Given the description of an element on the screen output the (x, y) to click on. 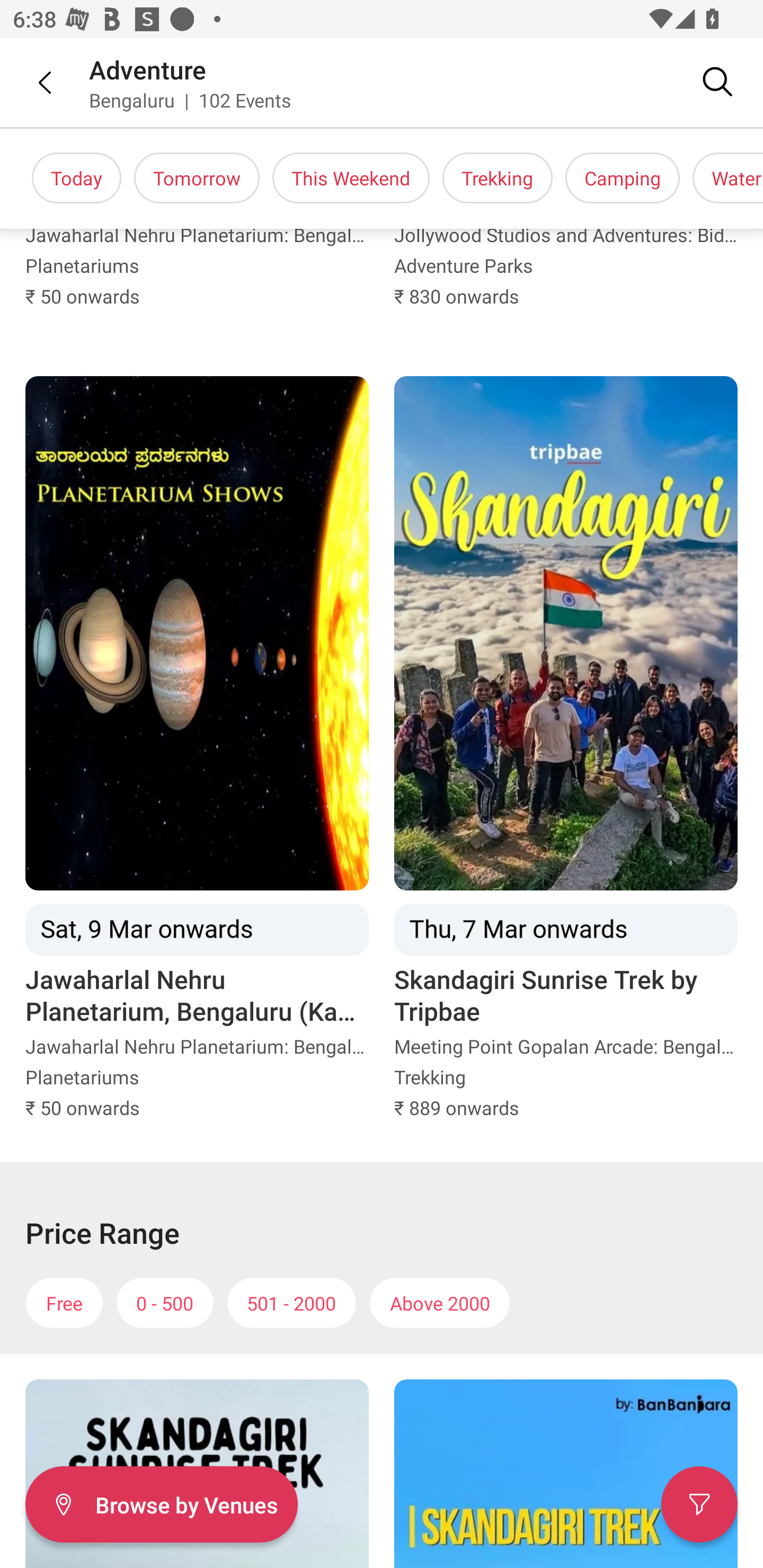
Back (31, 82)
Adventure (147, 68)
Bengaluru  |  102 Events (190, 99)
Today (76, 177)
Tomorrow (196, 177)
This Weekend (350, 177)
Trekking (497, 177)
Camping (622, 177)
Free (64, 1302)
0 - 500 (164, 1302)
501 - 2000 (291, 1302)
Above 2000 (439, 1302)
Filter Browse by Venues (161, 1504)
Filter (699, 1504)
